Given the description of an element on the screen output the (x, y) to click on. 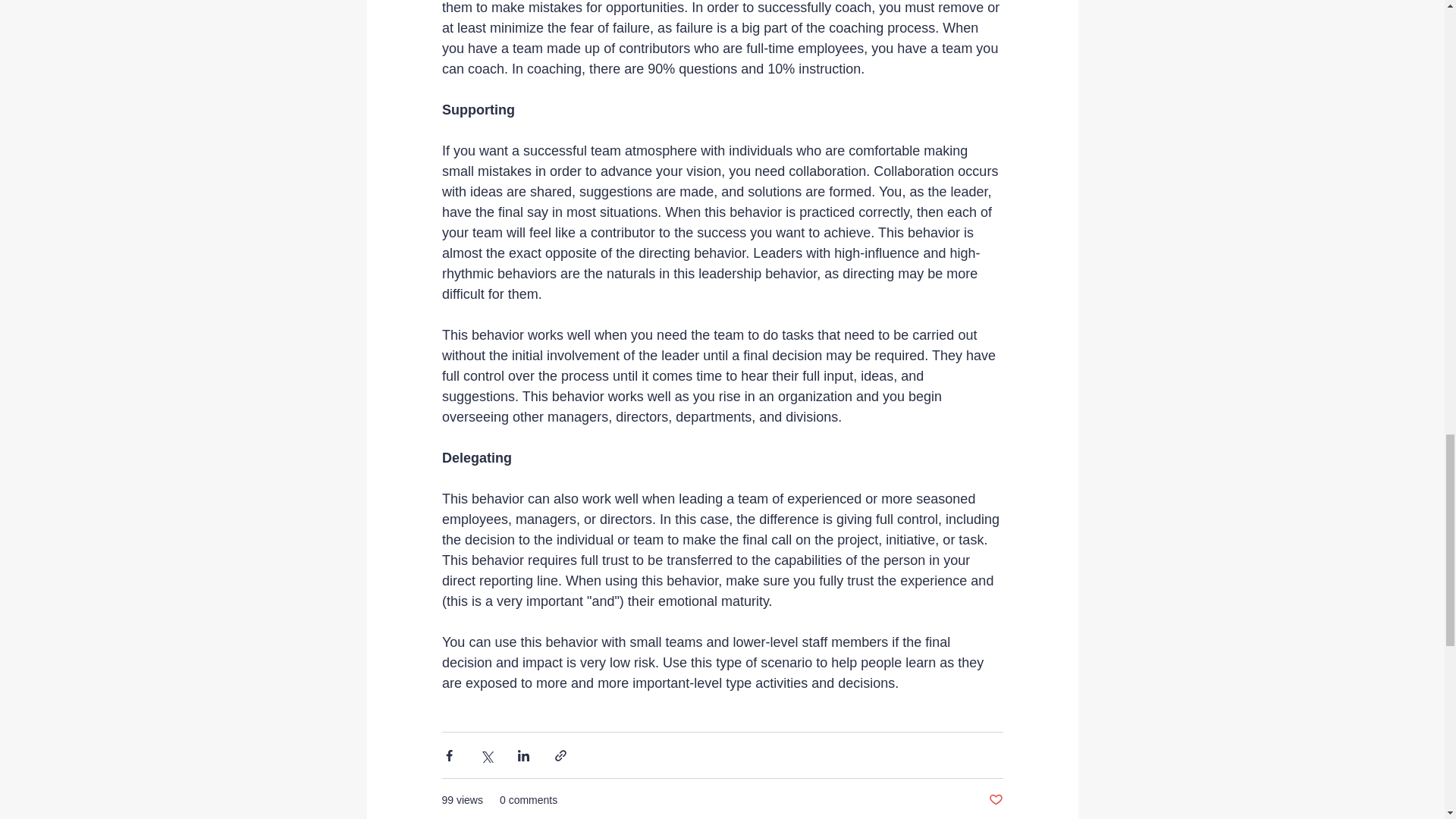
Post not marked as liked (995, 800)
